Given the description of an element on the screen output the (x, y) to click on. 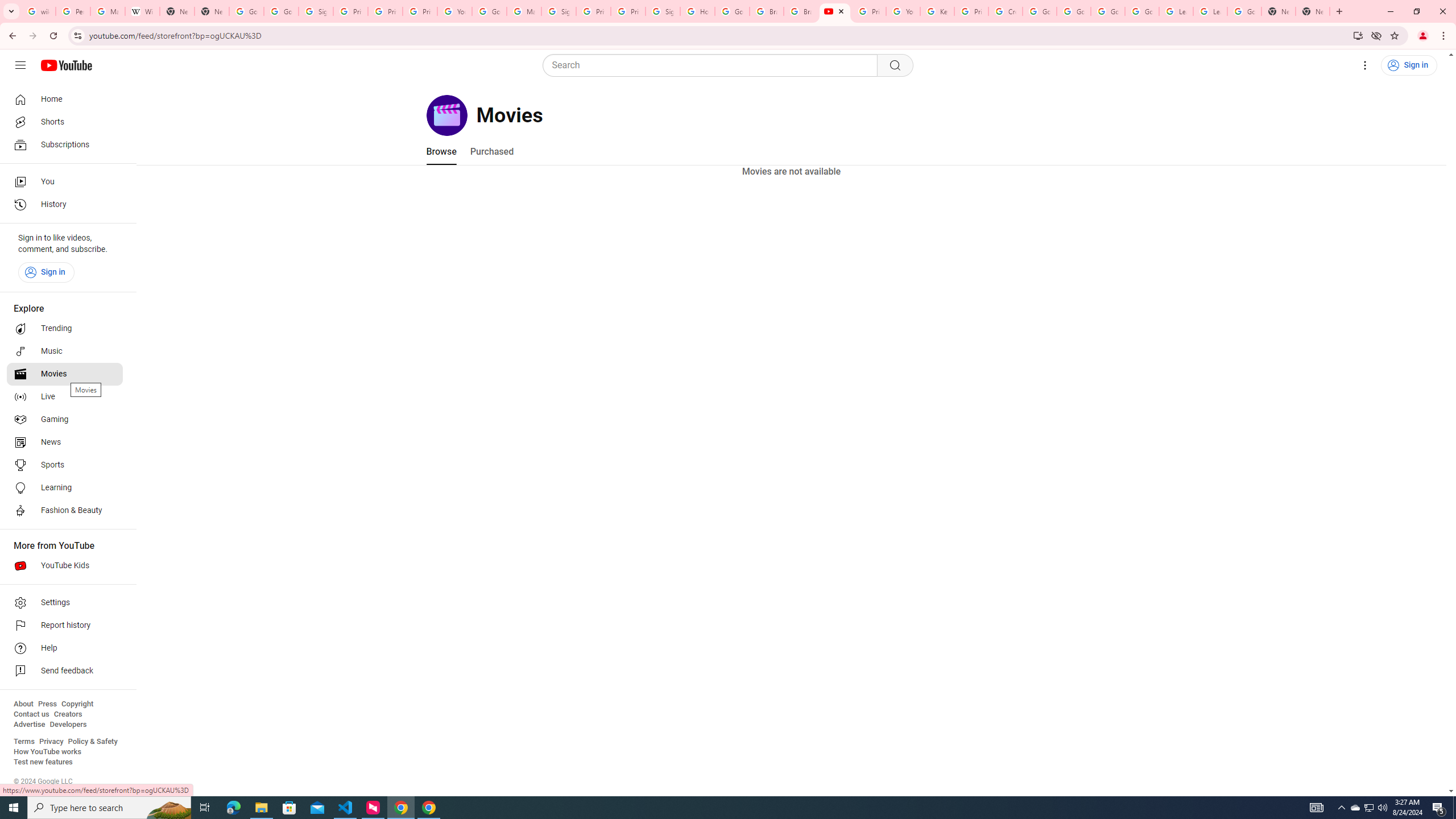
How YouTube works (47, 751)
Send feedback (64, 671)
Sign in - Google Accounts (315, 11)
Google Account Help (1073, 11)
Contact us (31, 714)
YouTube (903, 11)
Movies (64, 373)
YouTube Home (66, 65)
